Given the description of an element on the screen output the (x, y) to click on. 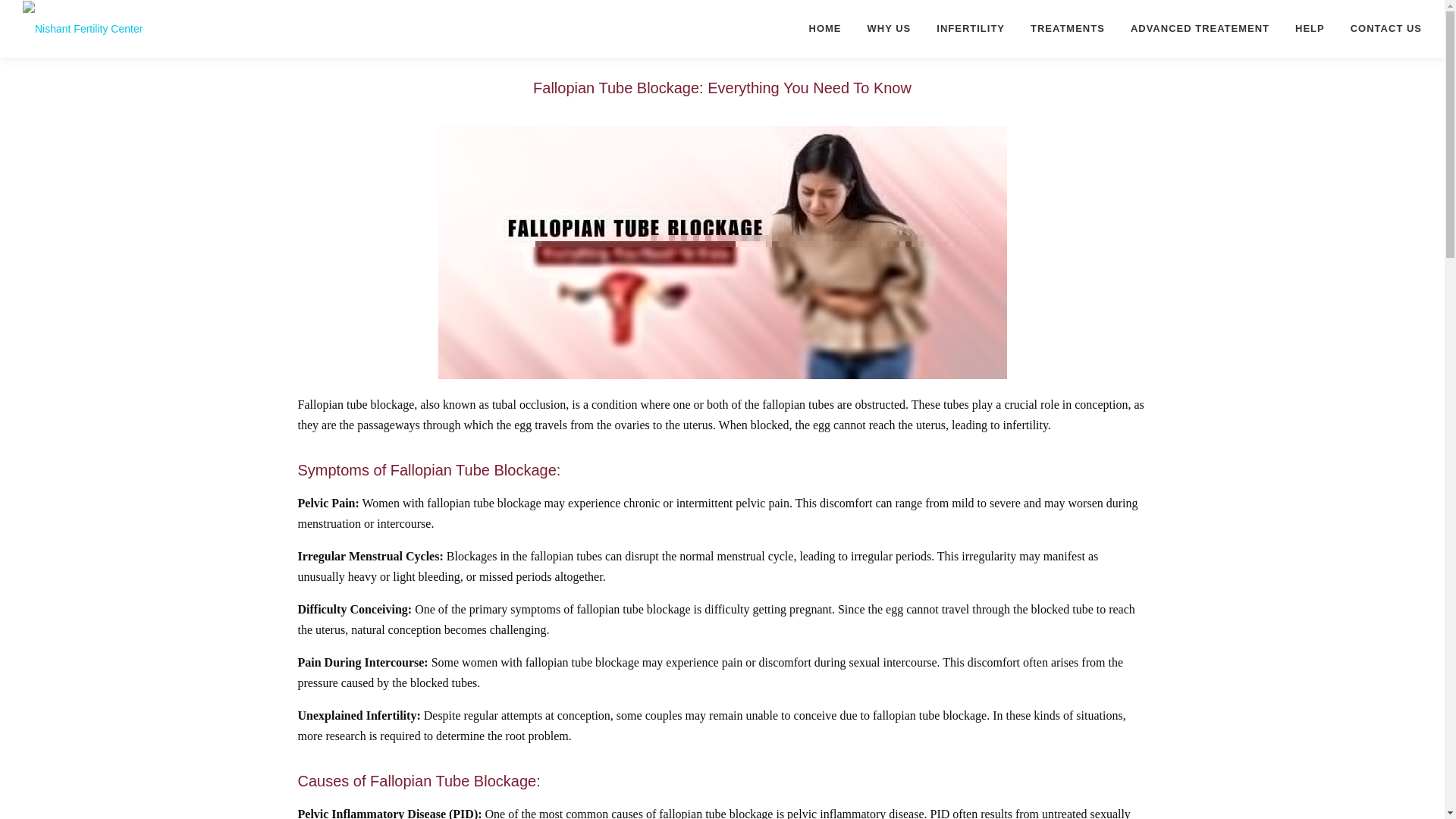
HELP (1310, 28)
INFERTILITY (970, 28)
HOME (825, 28)
TREATMENTS (1067, 28)
CONTACT US (1380, 28)
WHY US (889, 28)
ADVANCED TREATEMENT (1200, 28)
